Given the description of an element on the screen output the (x, y) to click on. 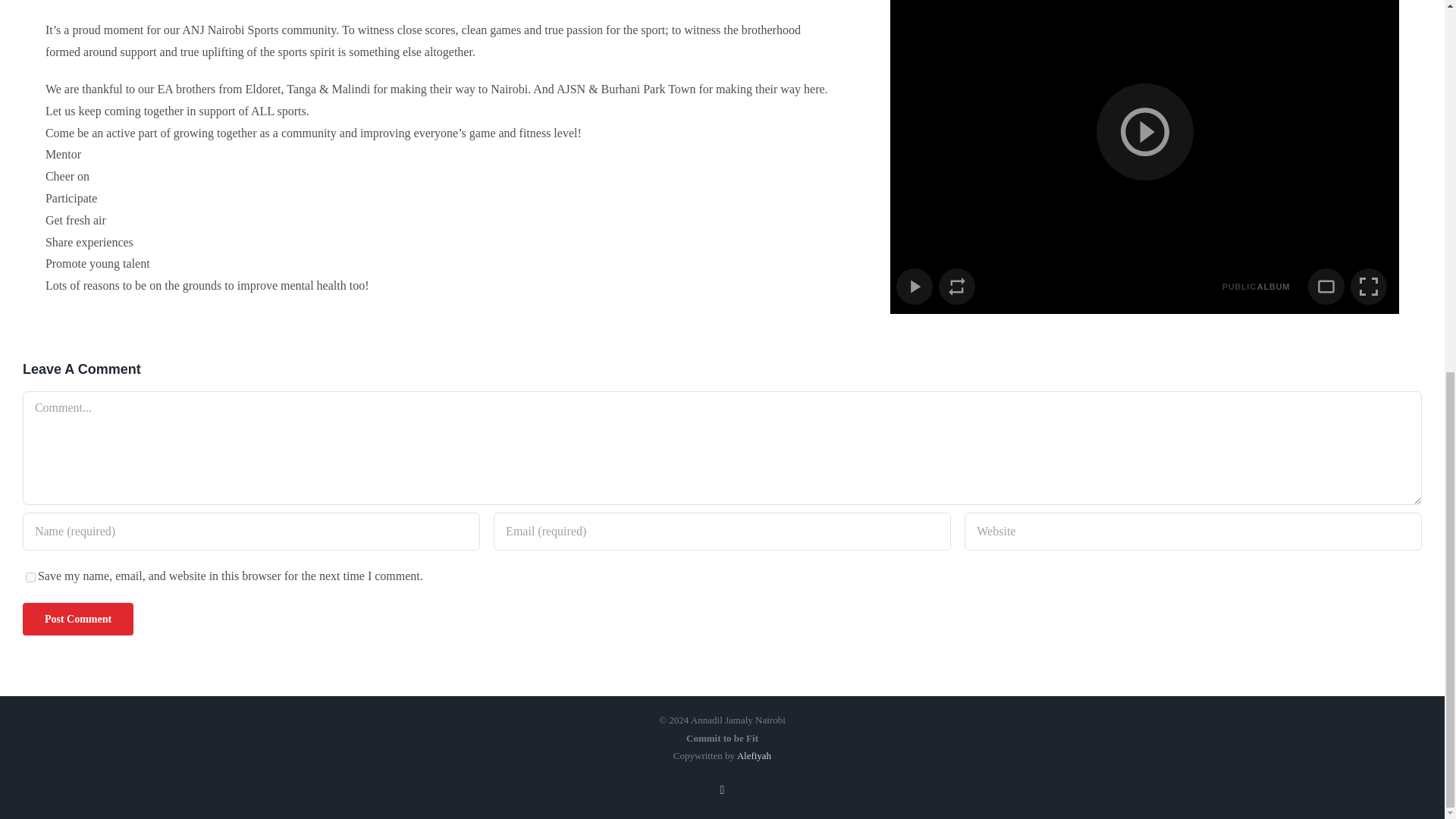
Post Comment (78, 618)
Alefiyah (753, 755)
Post Comment (78, 618)
yes (30, 577)
